Given the description of an element on the screen output the (x, y) to click on. 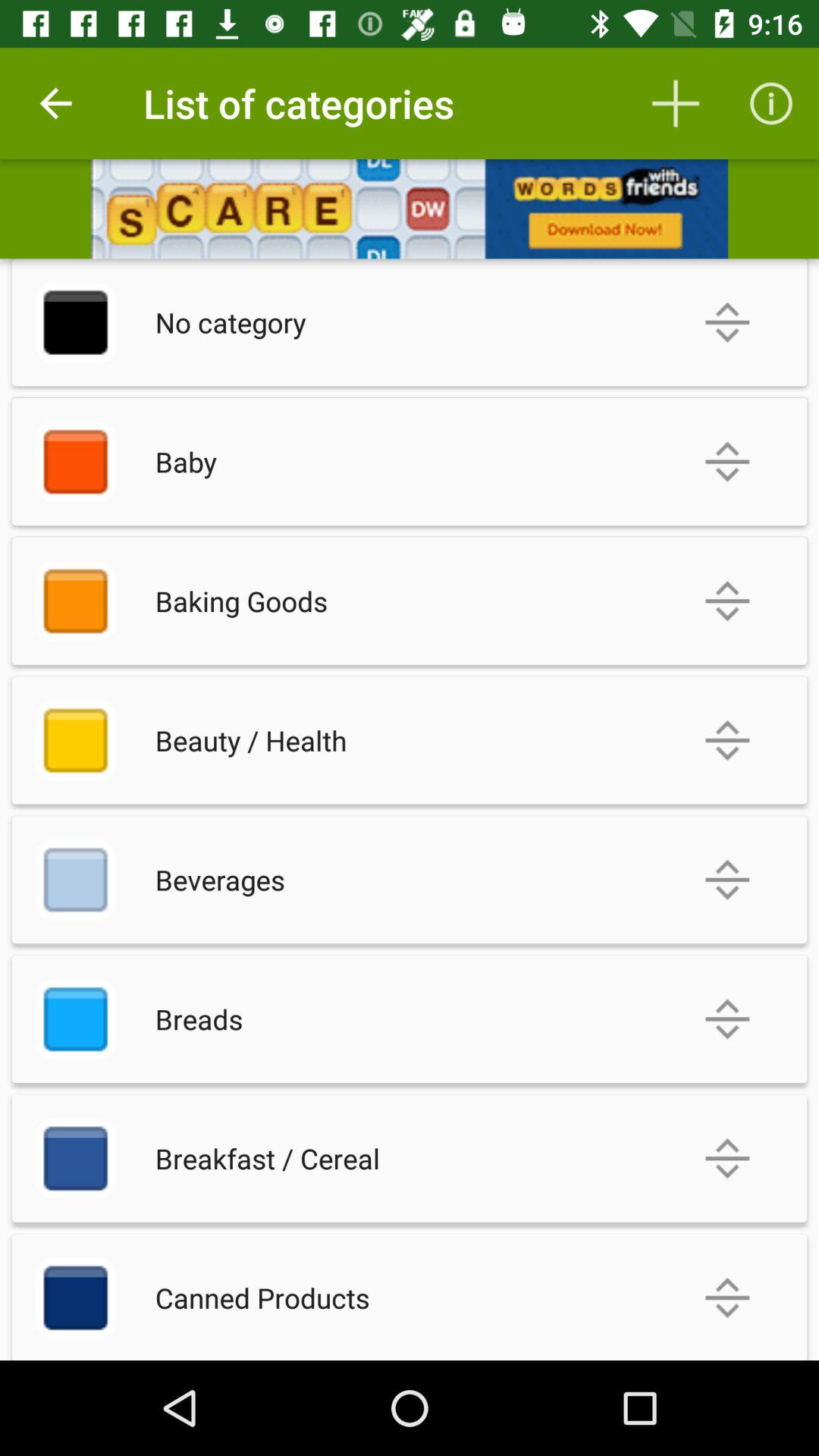
go to advertisement (409, 208)
